Given the description of an element on the screen output the (x, y) to click on. 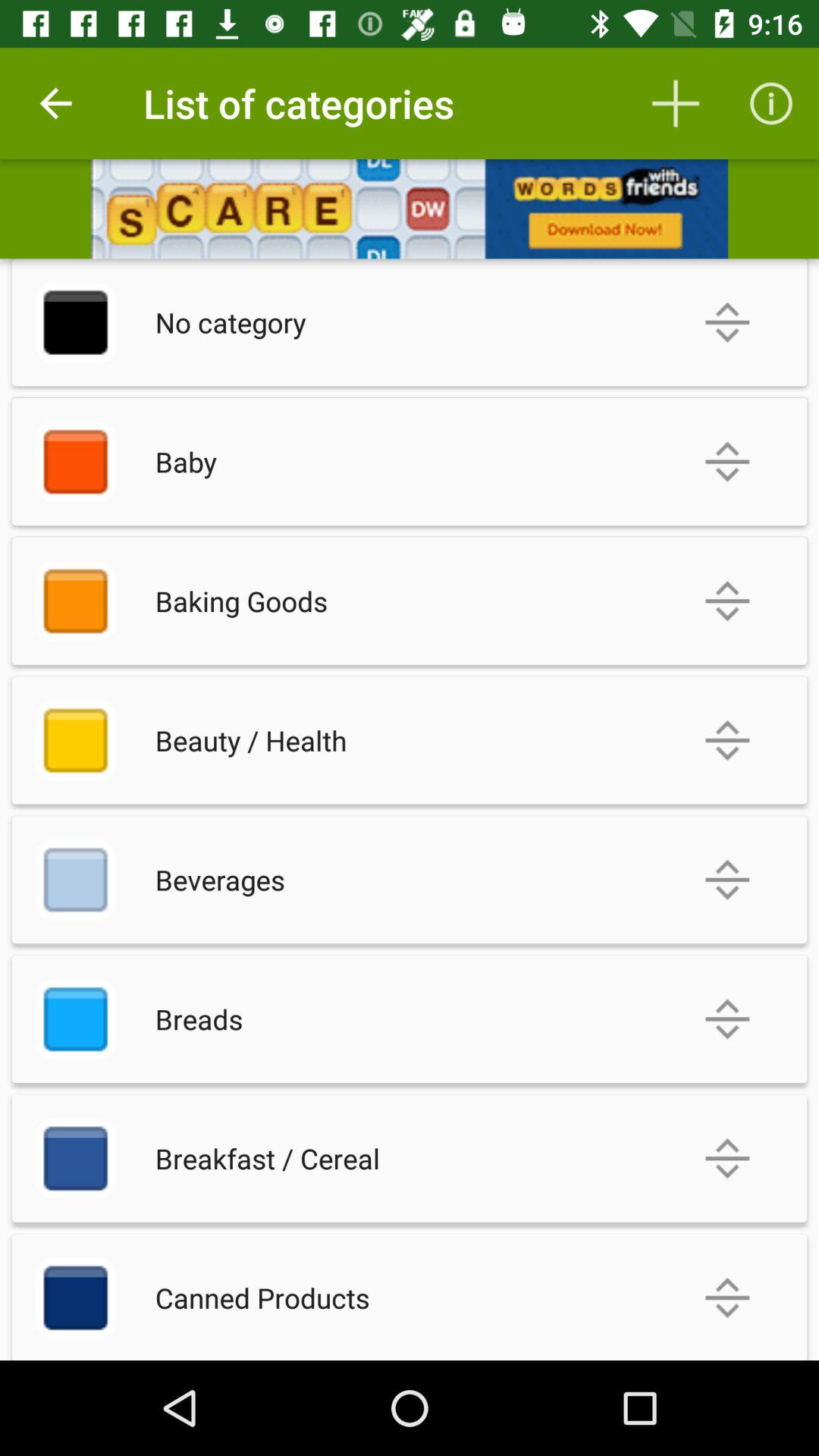
go to advertisement (409, 208)
